Given the description of an element on the screen output the (x, y) to click on. 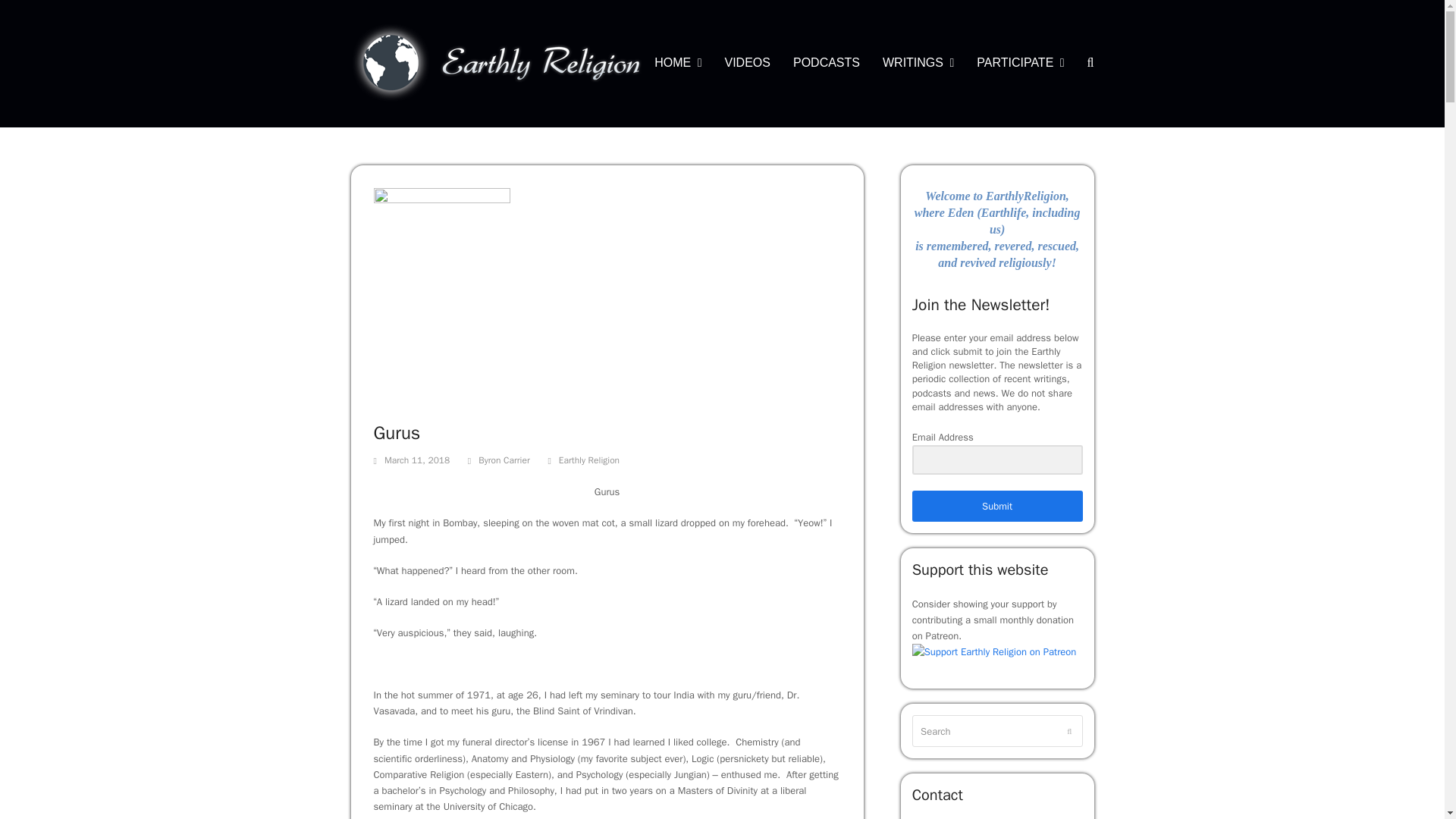
Earthly Religion (589, 460)
Posts by Byron Carrier (504, 460)
VIDEOS (746, 63)
PODCASTS (825, 63)
Byron Carrier (504, 460)
WRITINGS (917, 63)
HOME (678, 63)
PARTICIPATE (1020, 63)
